Given the description of an element on the screen output the (x, y) to click on. 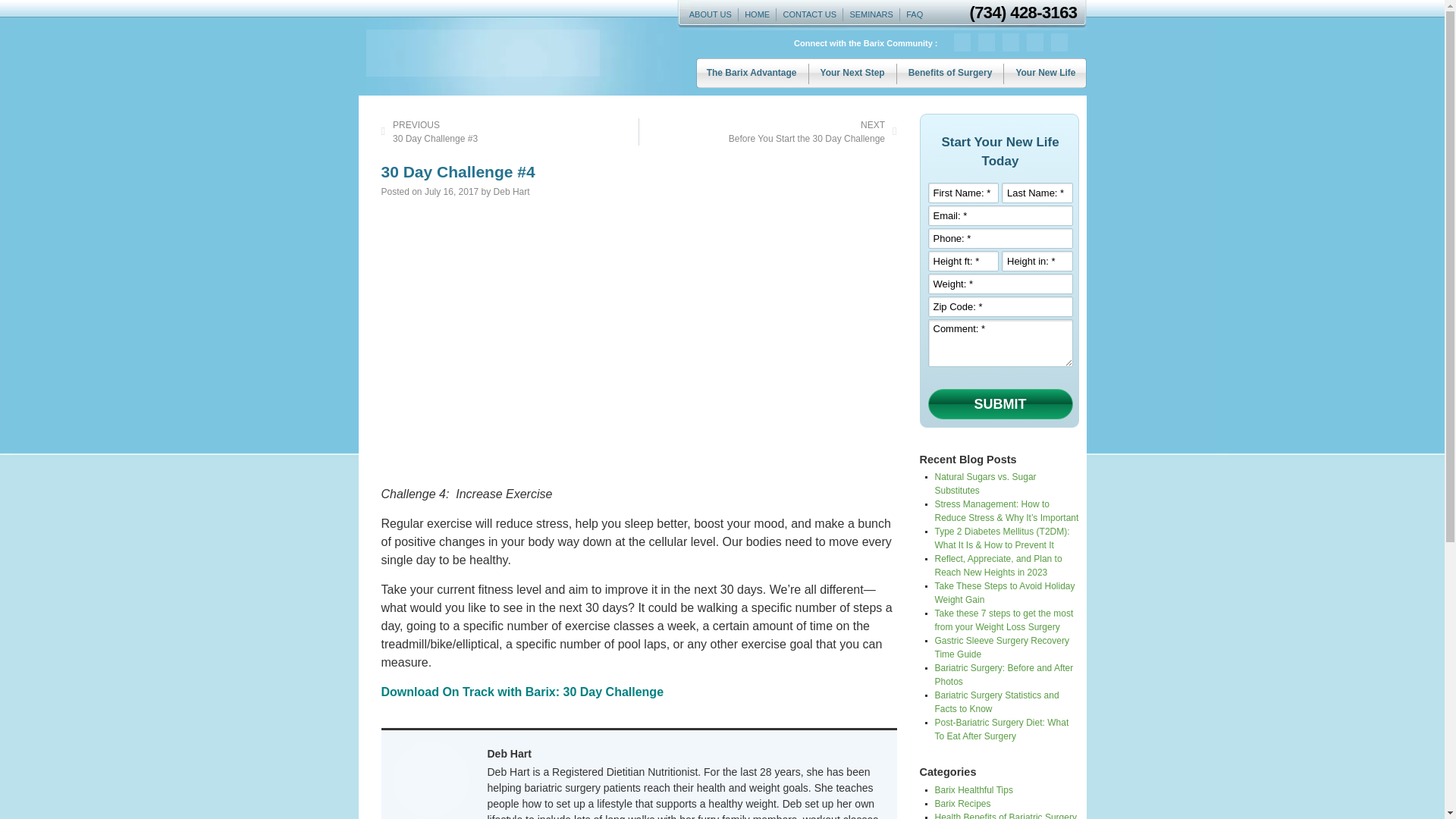
SEMINARS (871, 14)
Benefits of Surgery (950, 72)
HOME (757, 14)
Your Next Step (852, 72)
CONTACT US (809, 14)
FAQ (913, 14)
ABOUT US (710, 14)
Your New Life (1045, 72)
The Barix Advantage (751, 72)
